Given the description of an element on the screen output the (x, y) to click on. 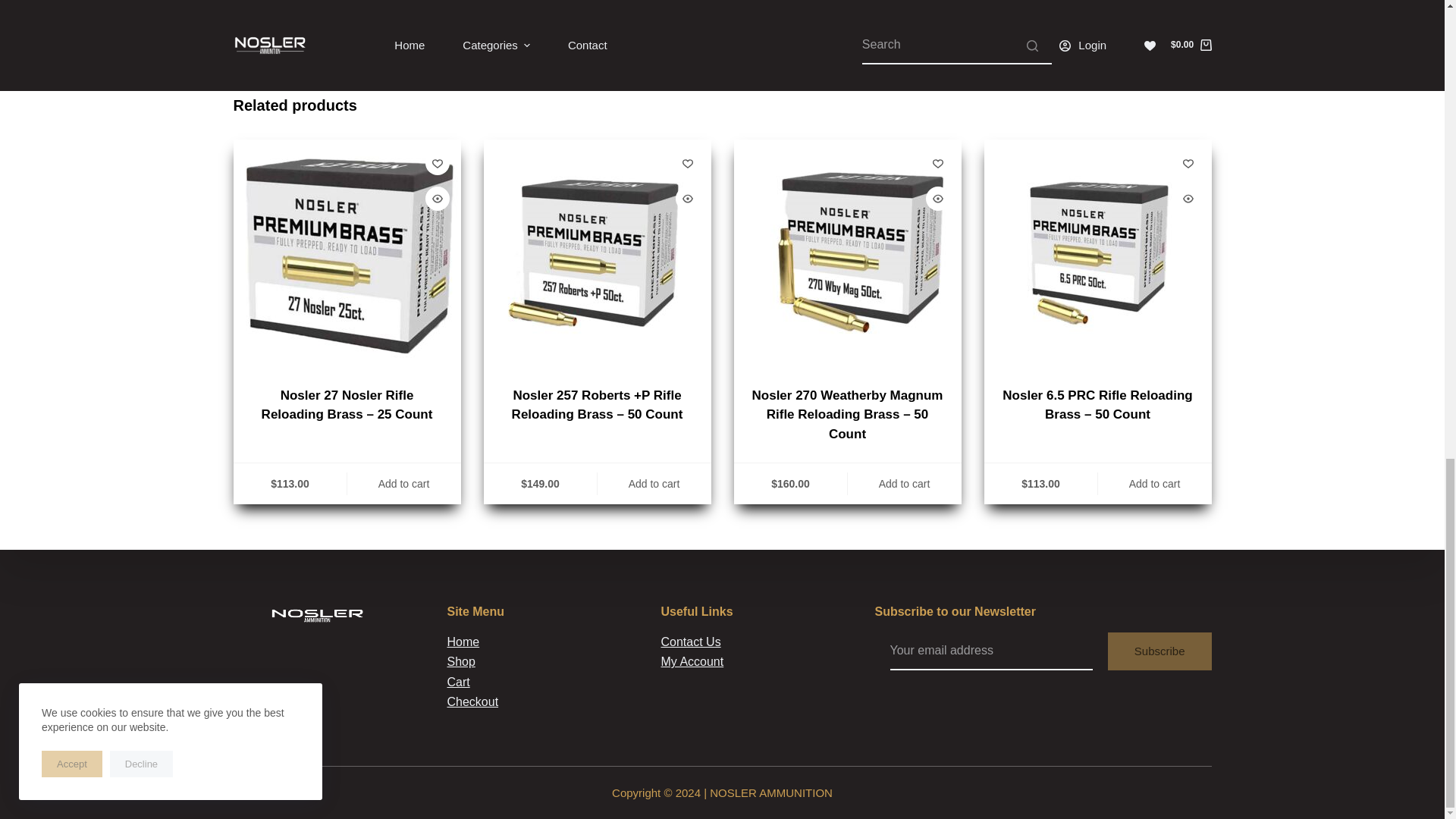
M36 (1097, 252)
M40 (846, 252)
M31 (346, 252)
M39 (597, 252)
